Given the description of an element on the screen output the (x, y) to click on. 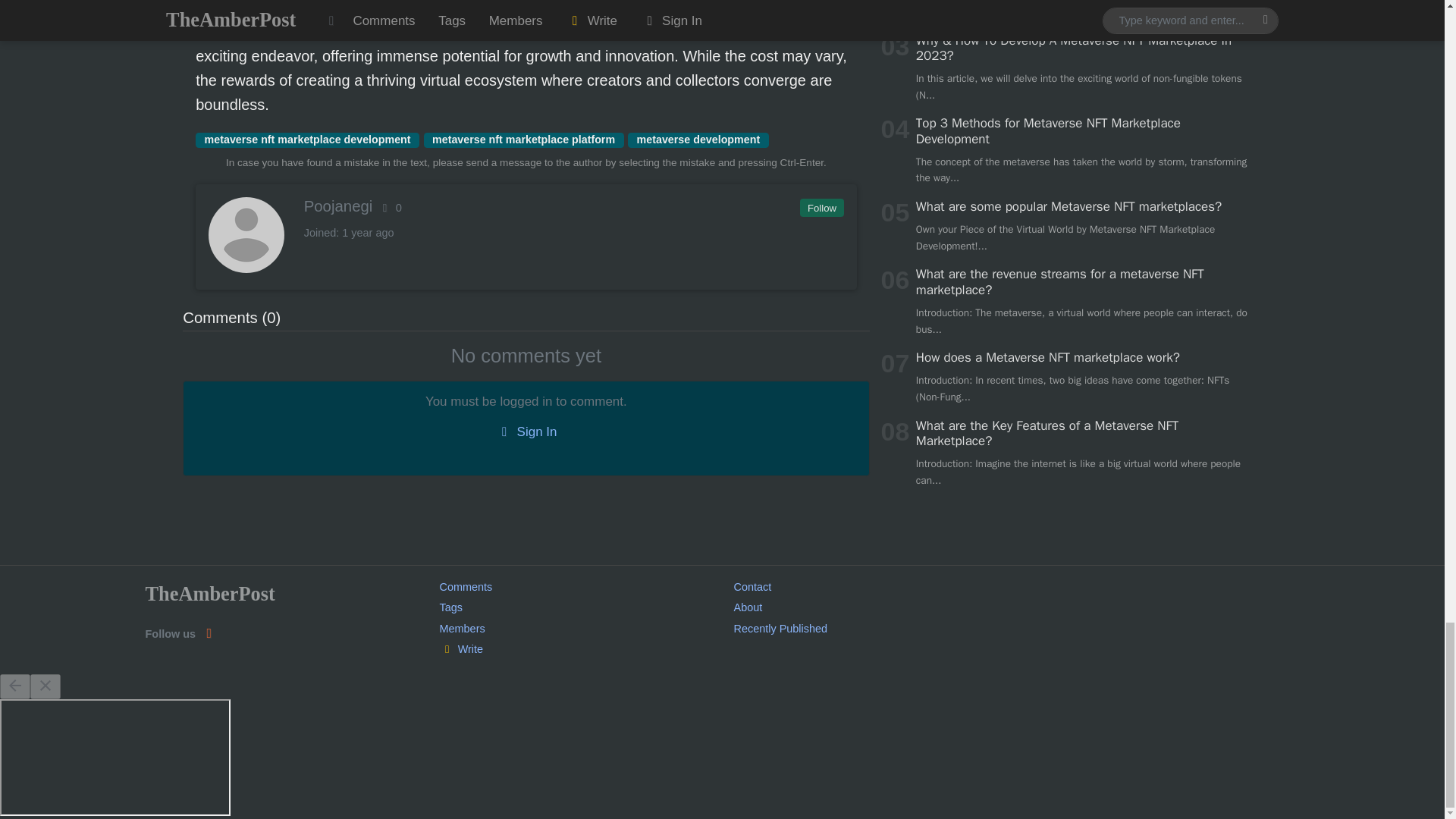
metaverse nft marketplace platform (523, 140)
Rating (389, 207)
metaverse nft marketplace development (307, 140)
Metaverse NFT marketplace development (634, 31)
metaverse nft marketplace development (307, 140)
metaverse development (697, 140)
Follow (821, 208)
metaverse nft marketplace platform (523, 140)
metaverse development (697, 140)
Poojanegi 0 (525, 206)
